Given the description of an element on the screen output the (x, y) to click on. 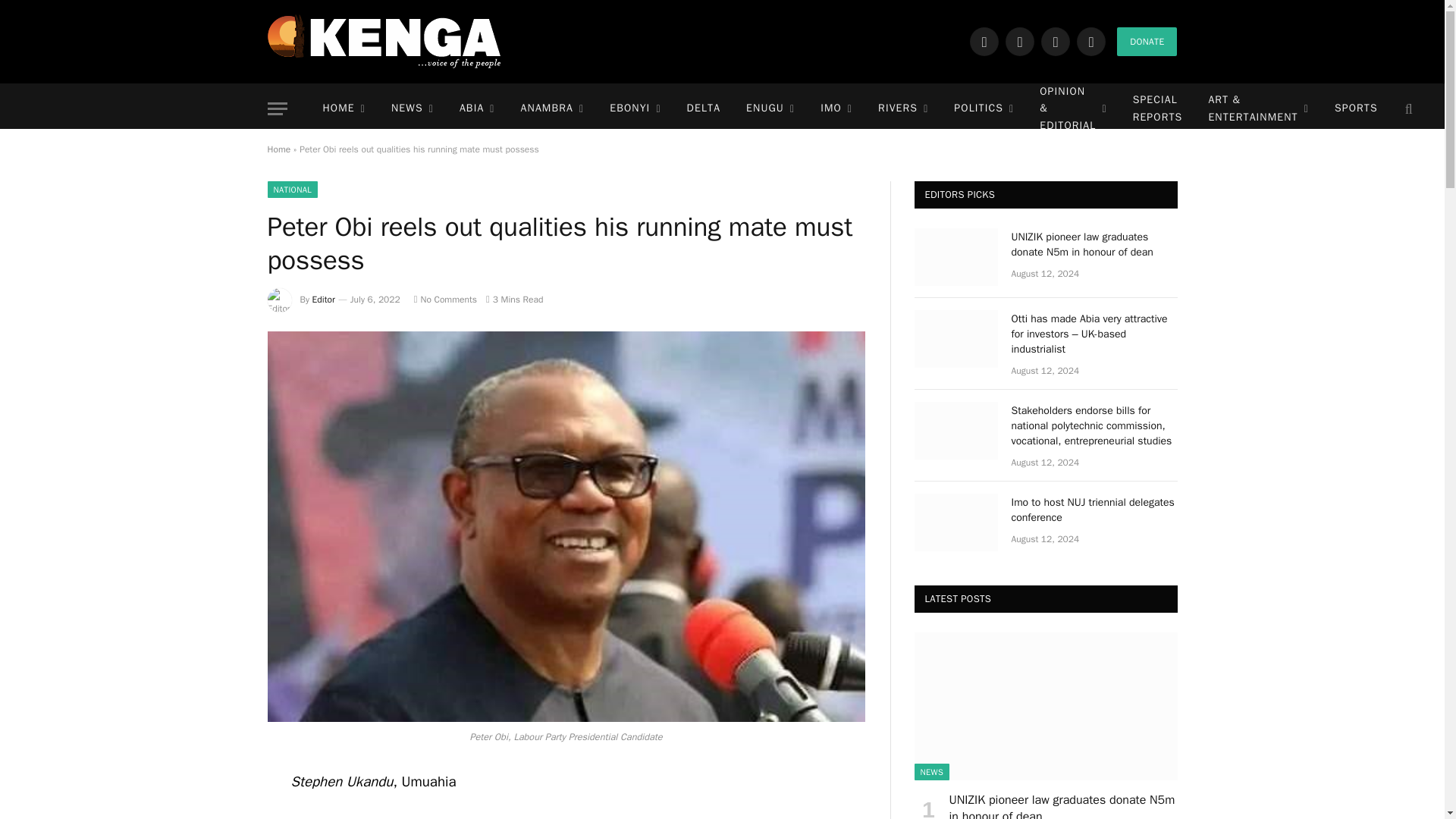
NEWS (412, 108)
HOME (342, 108)
Instagram (1055, 41)
Facebook (983, 41)
DONATE (1146, 41)
YouTube (1091, 41)
Ikenga Online (383, 41)
Twitter (1019, 41)
